Given the description of an element on the screen output the (x, y) to click on. 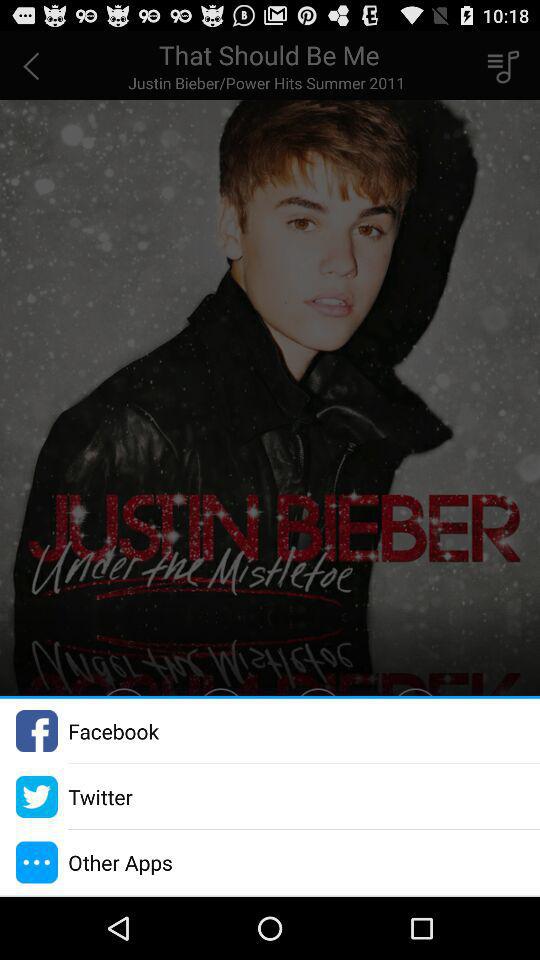
turn off the icon at the center (270, 363)
